Given the description of an element on the screen output the (x, y) to click on. 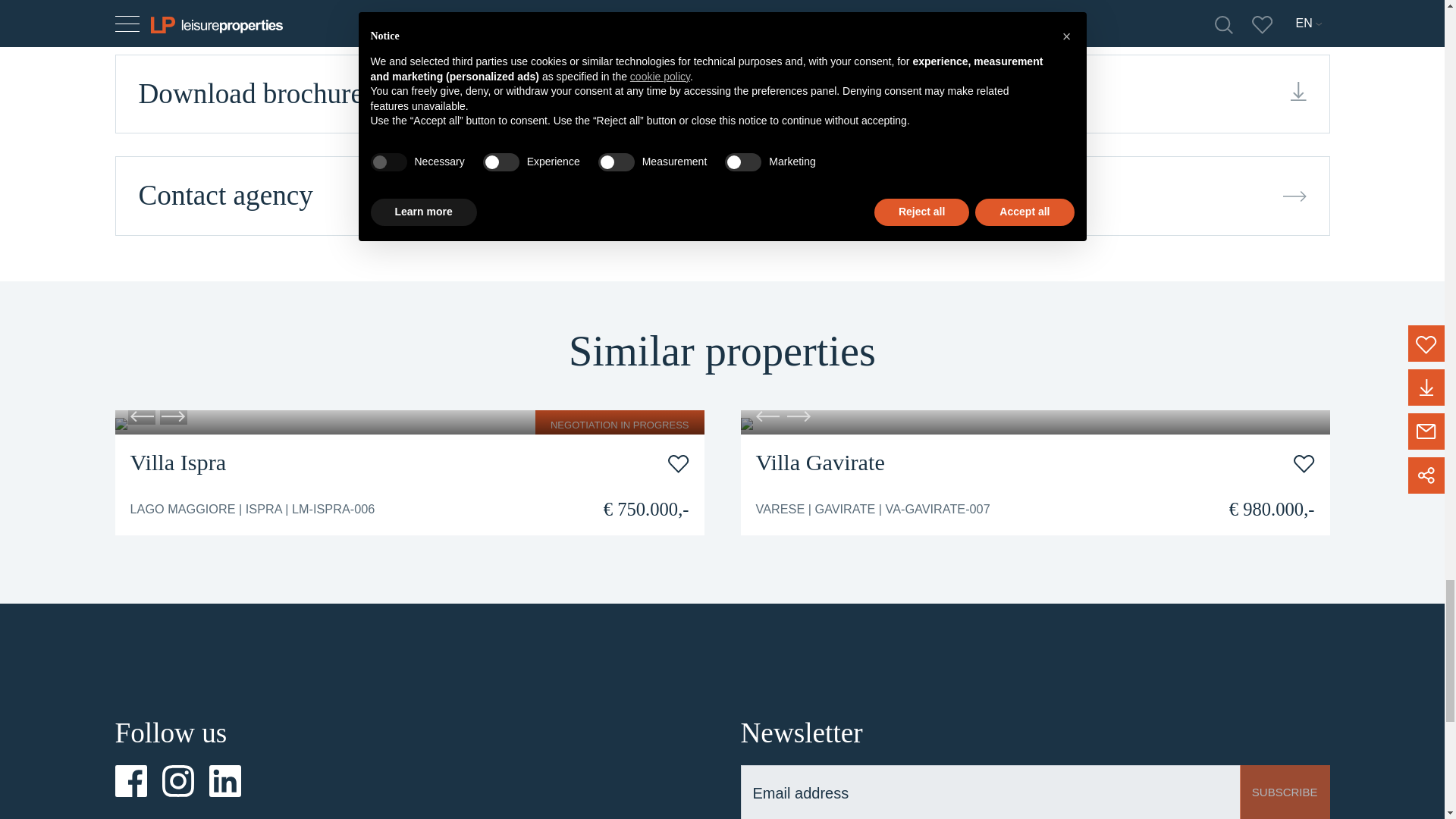
Villa Gavirate (819, 462)
NEGOTIATION IN PROGRESS (409, 422)
SUBSCRIBE (1285, 791)
Villa Ispra (179, 462)
